Given the description of an element on the screen output the (x, y) to click on. 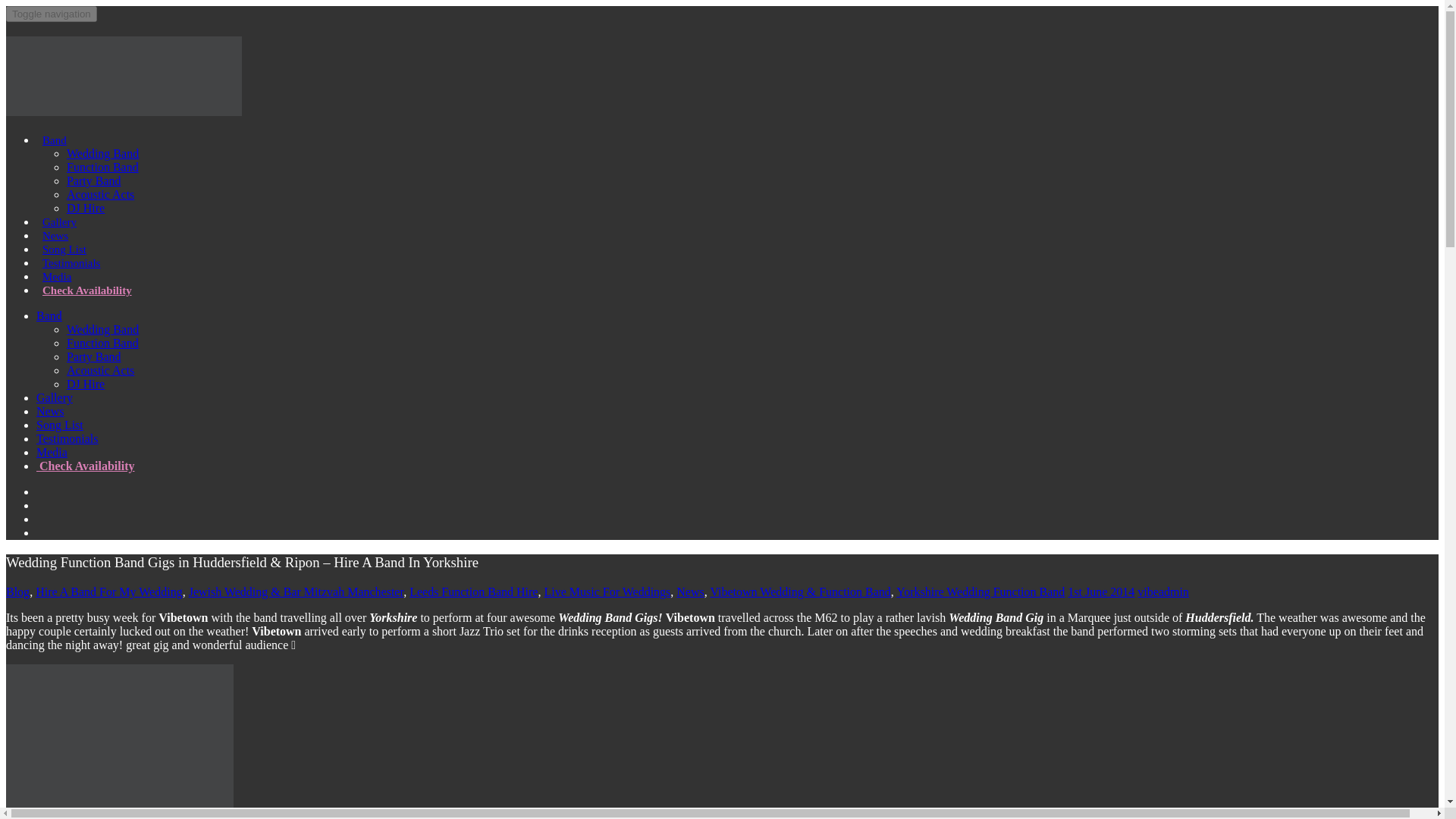
Song List (64, 249)
Wedding Band (102, 328)
 Check Availability (85, 465)
Blog (17, 591)
Hire A Band For My Wedding (108, 591)
DJ Hire (85, 383)
Yorkshire Wedding Function Band (980, 591)
DJ Hire (85, 207)
Testimonials (67, 438)
Party Band (93, 356)
1st June 2014 (1100, 591)
News (50, 410)
Media (51, 451)
Song List (59, 424)
Toggle navigation (51, 13)
